Given the description of an element on the screen output the (x, y) to click on. 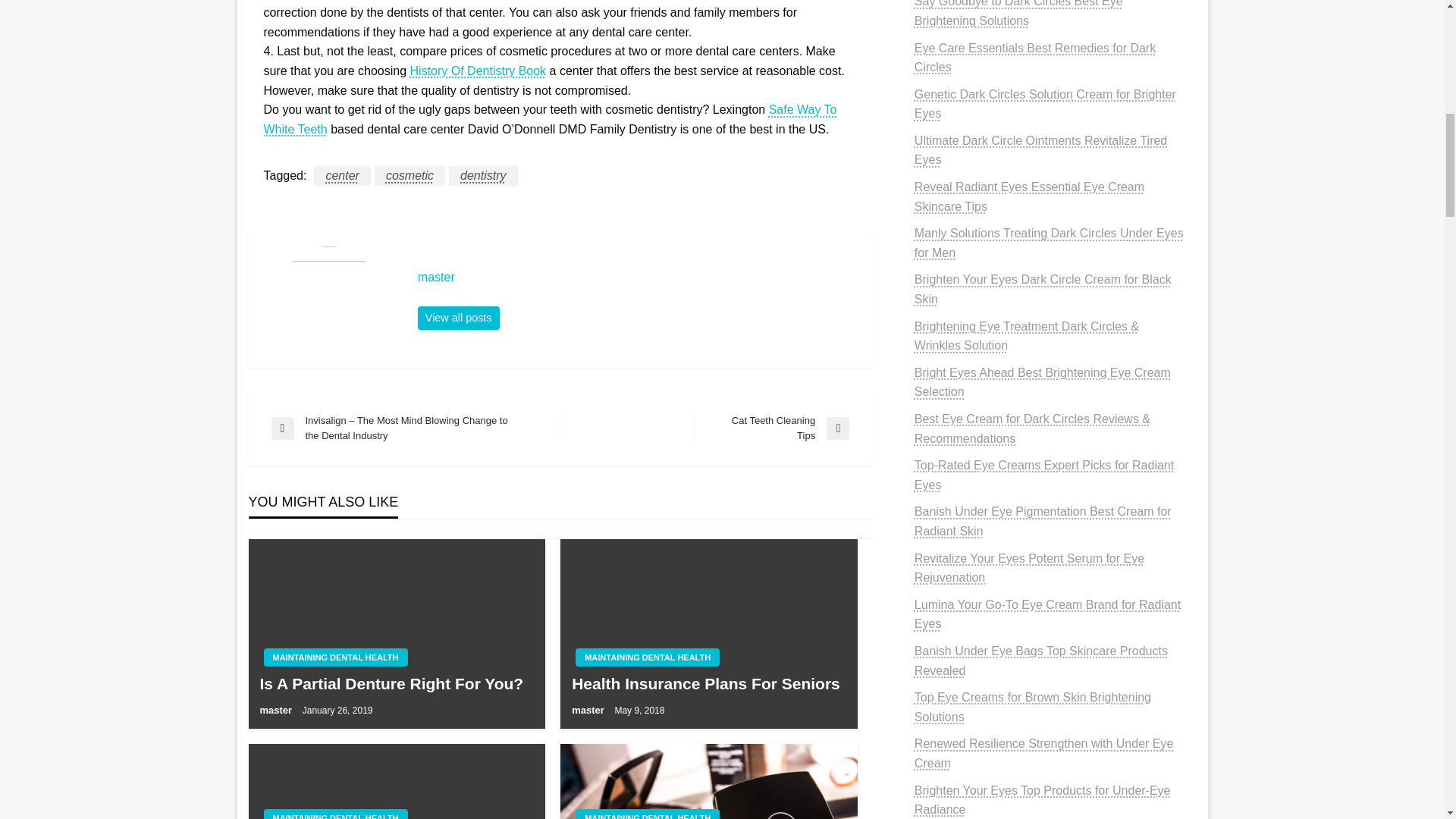
master (772, 428)
master (637, 277)
master (589, 709)
View all posts (458, 318)
History Of Dentistry Book (458, 318)
MAINTAINING DENTAL HEALTH (478, 70)
master (335, 657)
center (637, 277)
Health Insurance Plans For Seniors (341, 175)
Safe Way To White Teeth (708, 683)
MAINTAINING DENTAL HEALTH (550, 119)
cosmetic (647, 657)
Is A Partial Denture Right For You? (409, 175)
dentistry (396, 683)
